Given the description of an element on the screen output the (x, y) to click on. 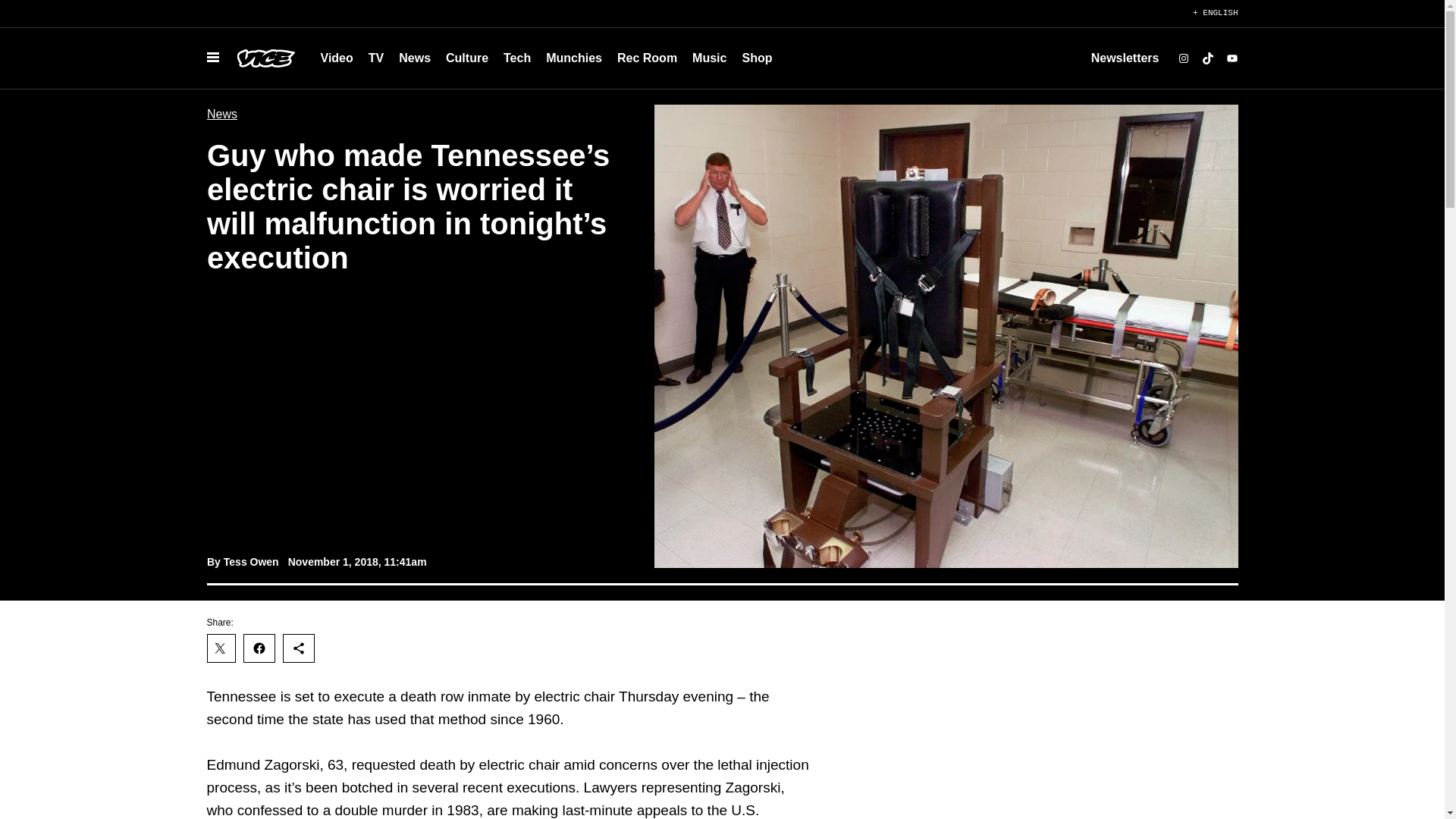
Rec Room (647, 58)
Posts by Tess Owen (250, 562)
TV (376, 58)
Open Menu (211, 58)
Newsletters (1124, 57)
News (414, 58)
Music (708, 58)
YouTube (1231, 58)
Instagram (1182, 58)
Video (336, 58)
